Given the description of an element on the screen output the (x, y) to click on. 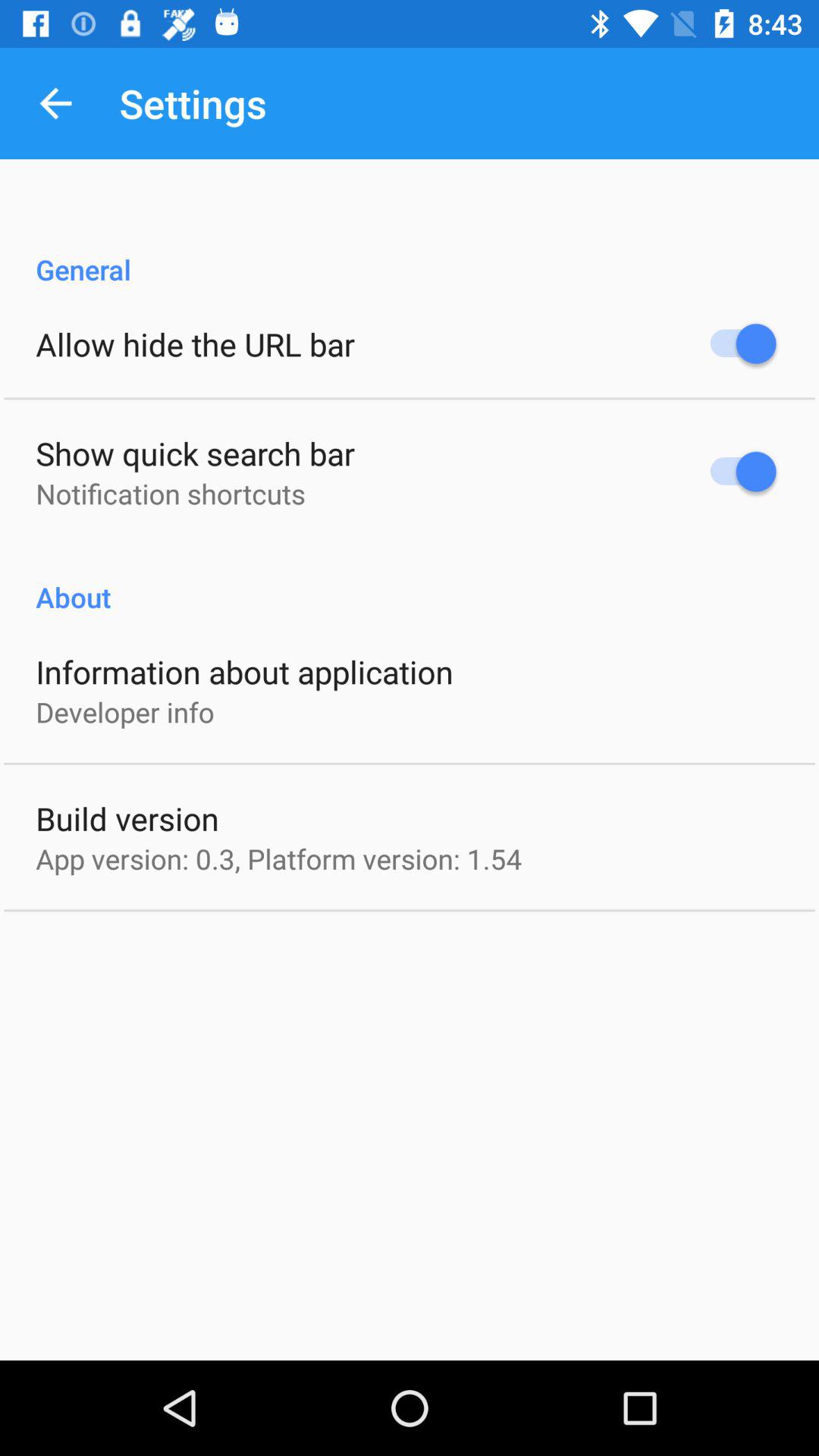
launch icon below the developer info item (126, 818)
